Given the description of an element on the screen output the (x, y) to click on. 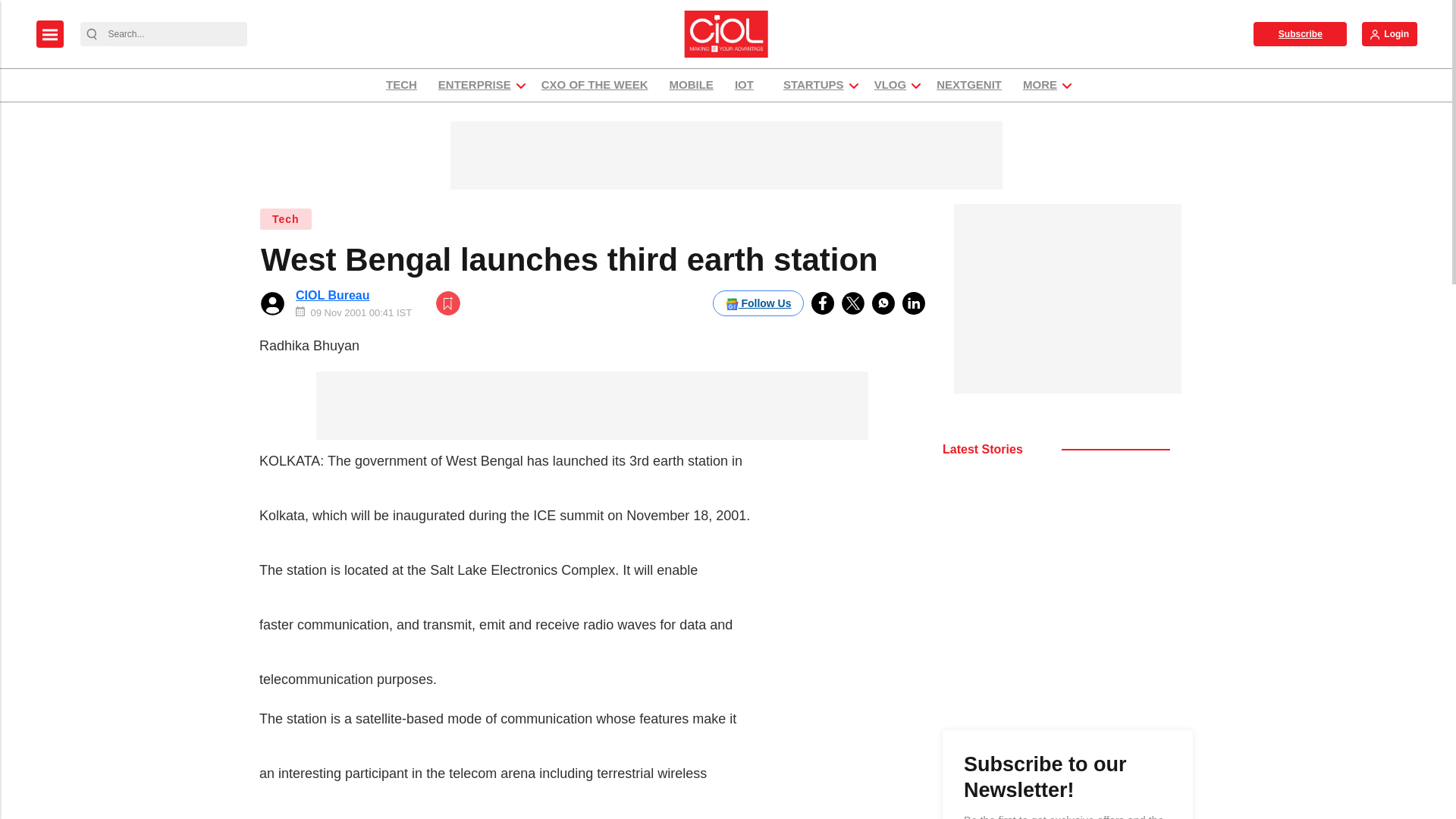
Subscribe (1299, 33)
MOBILE (691, 84)
IOT (748, 84)
TECH (401, 84)
CXO OF THE WEEK (594, 84)
VLOG (890, 84)
ENTERPRISE (474, 84)
MORE (1039, 84)
NEXTGENIT (969, 84)
STARTUPS (812, 84)
Login (1388, 33)
